Given the description of an element on the screen output the (x, y) to click on. 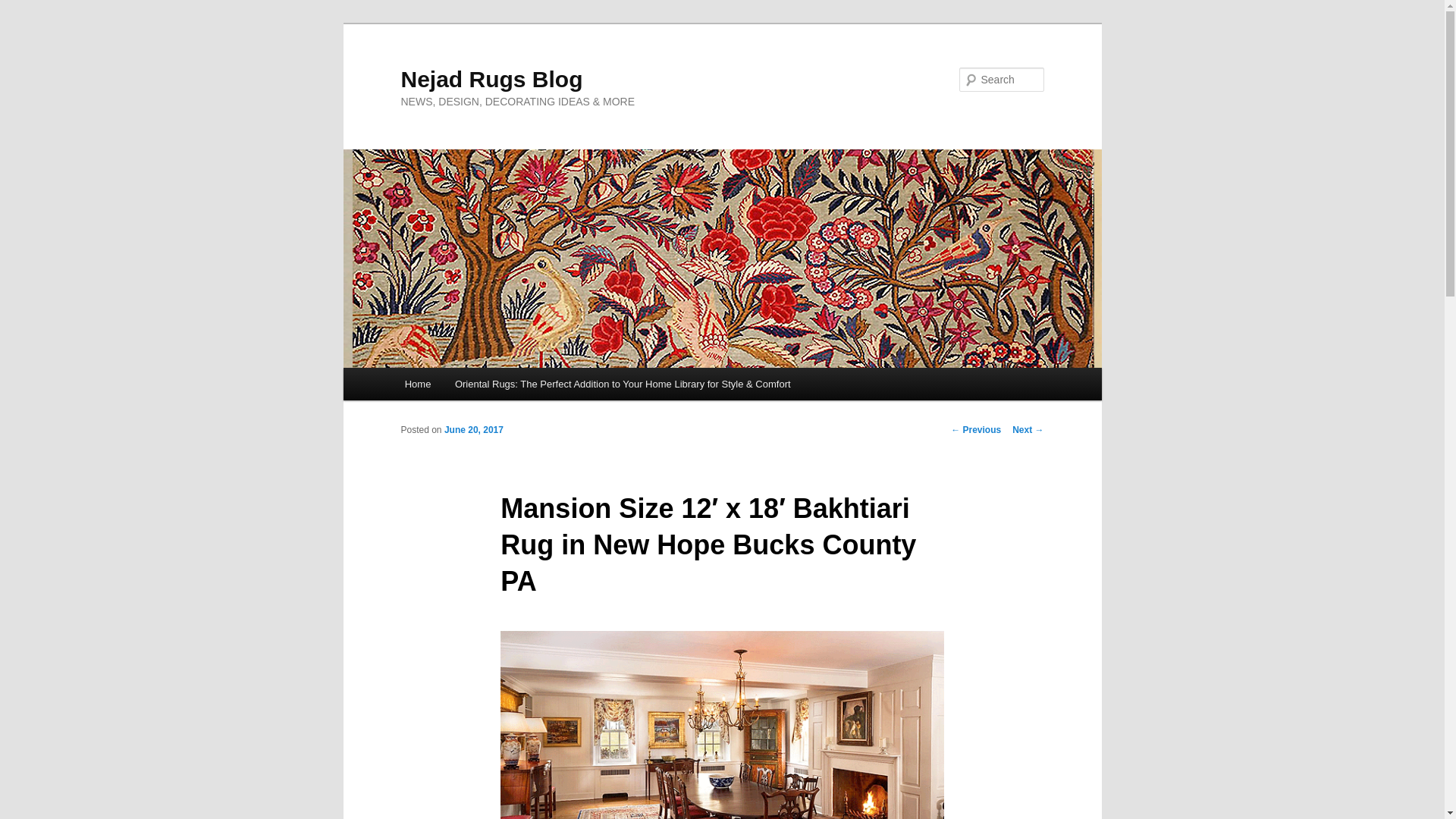
Home (417, 383)
12:50 pm (473, 429)
Nejad Rugs Blog (491, 78)
June 20, 2017 (473, 429)
Search (24, 8)
